Given the description of an element on the screen output the (x, y) to click on. 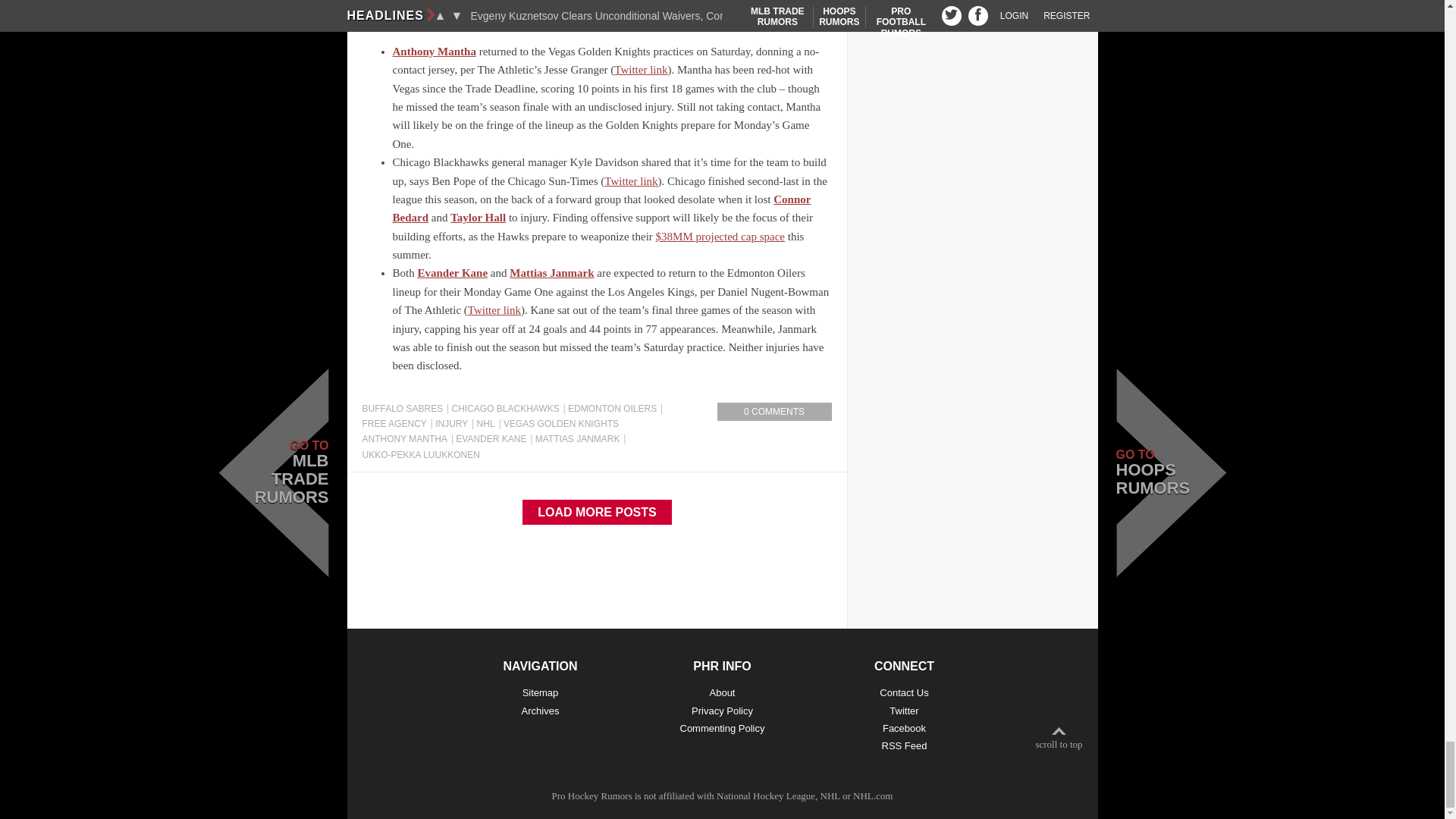
Pro Hockey Rumors (591, 795)
